Given the description of an element on the screen output the (x, y) to click on. 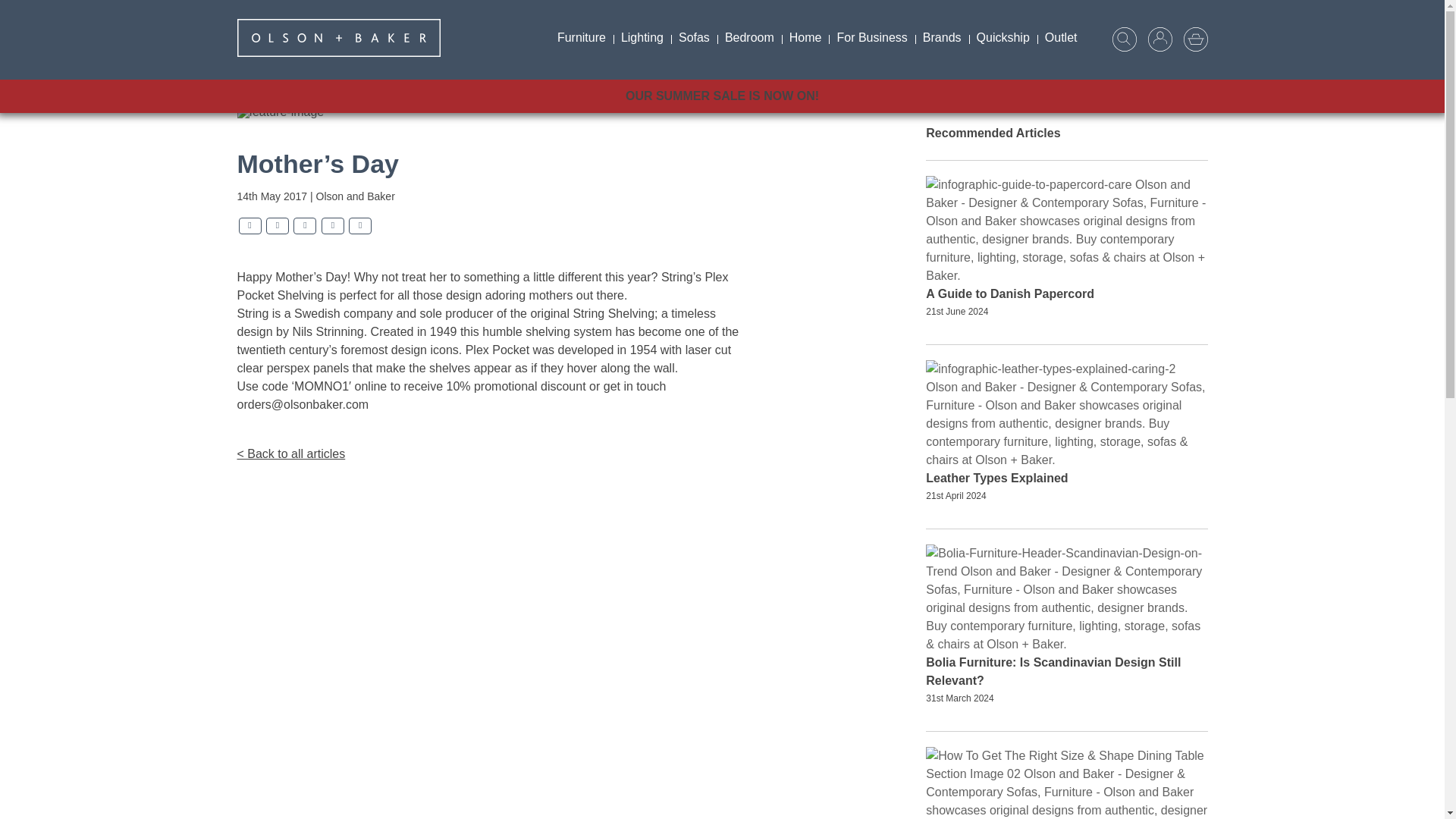
Sofas (694, 37)
Home (805, 37)
Furniture (581, 37)
Bedroom (749, 37)
Quickship (1002, 37)
Lighting (641, 37)
For Business (871, 37)
Brands (942, 37)
Outlet (1060, 37)
